Given the description of an element on the screen output the (x, y) to click on. 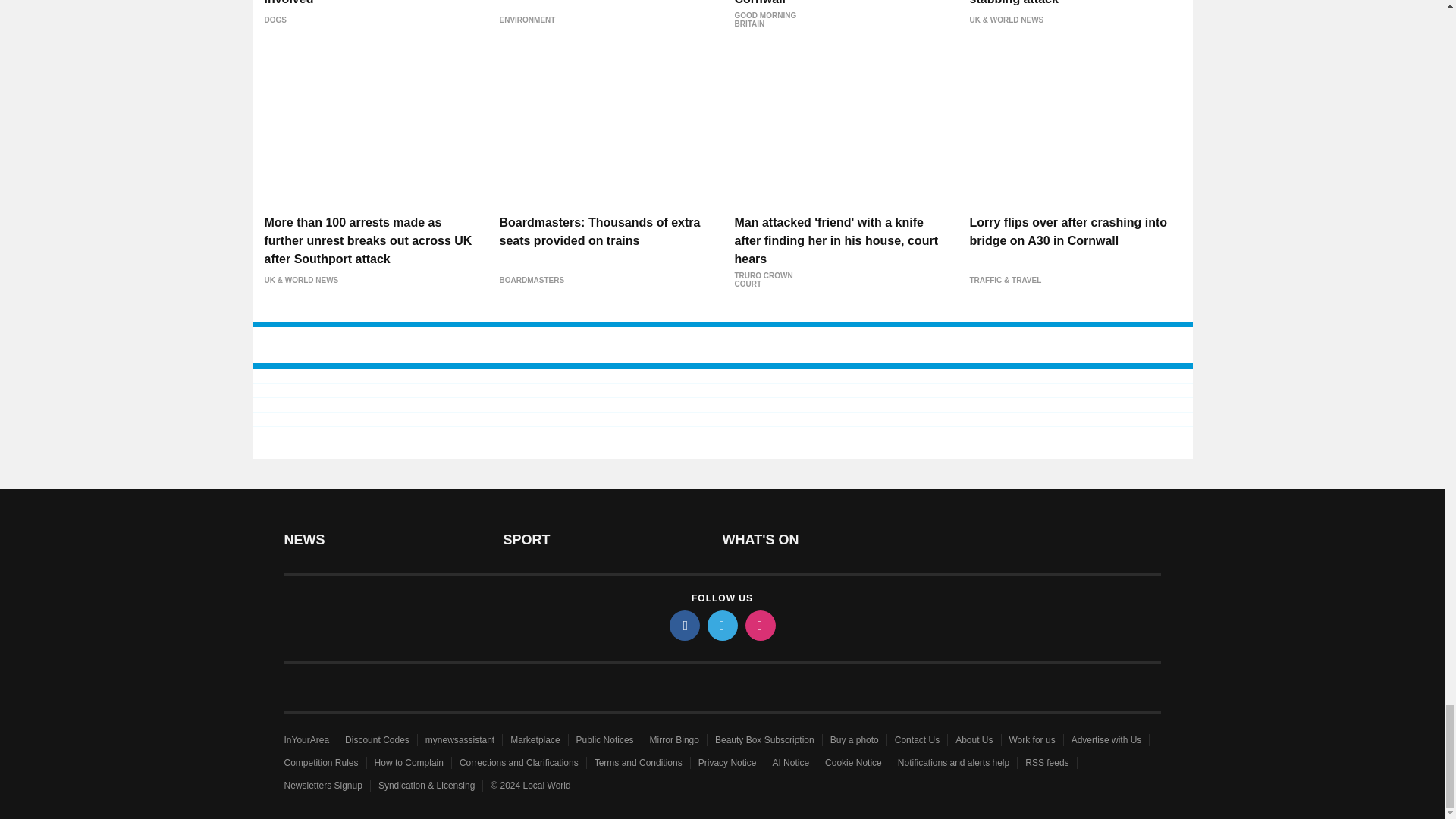
twitter (721, 625)
instagram (759, 625)
facebook (683, 625)
